Given the description of an element on the screen output the (x, y) to click on. 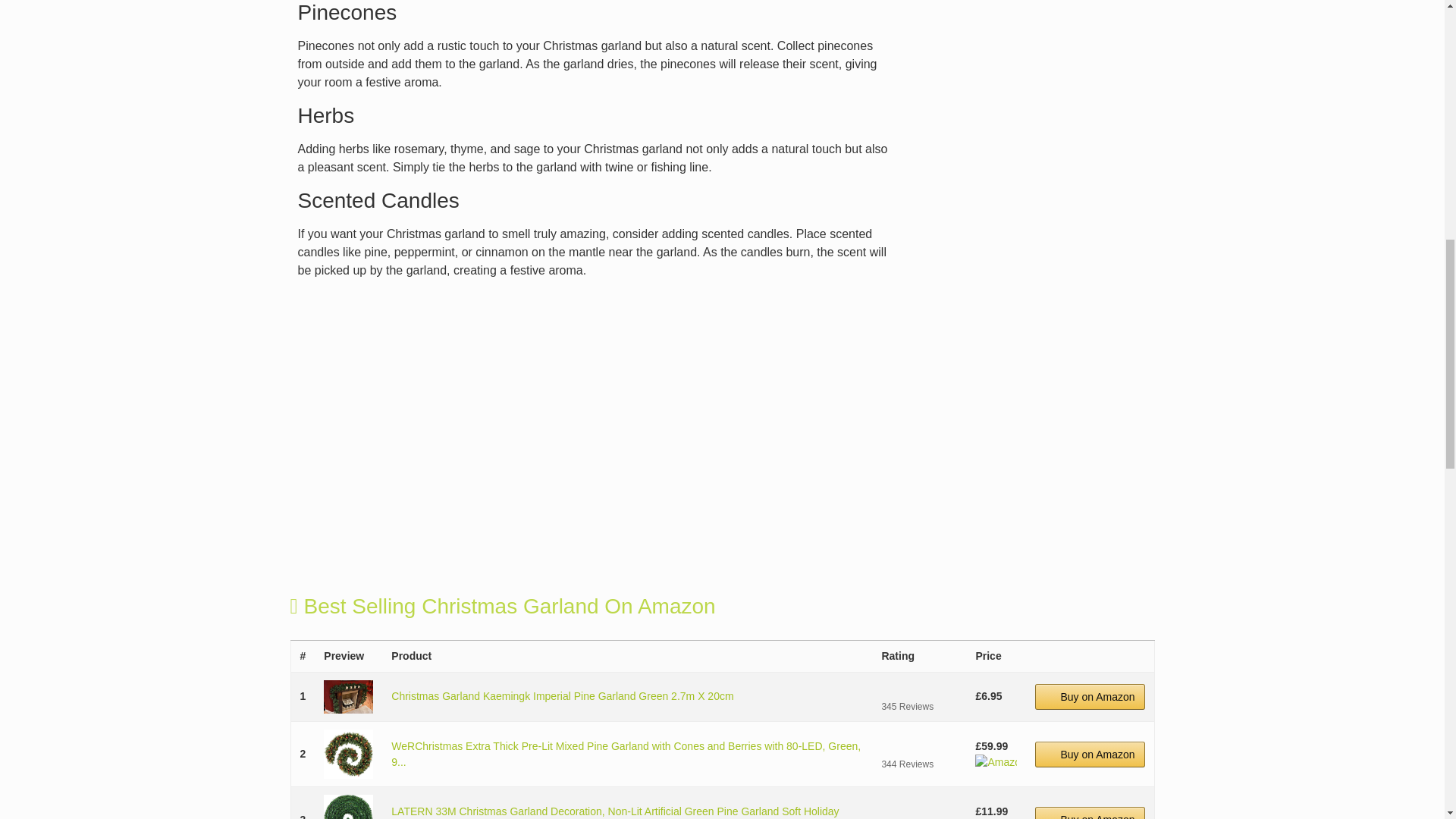
Reviews on Amazon (918, 811)
Reviews on Amazon (918, 688)
Buy on Amazon (1089, 696)
Buy on Amazon (1089, 812)
Amazon Prime (995, 761)
Reviews on Amazon (918, 745)
Buy on Amazon (1089, 754)
